Given the description of an element on the screen output the (x, y) to click on. 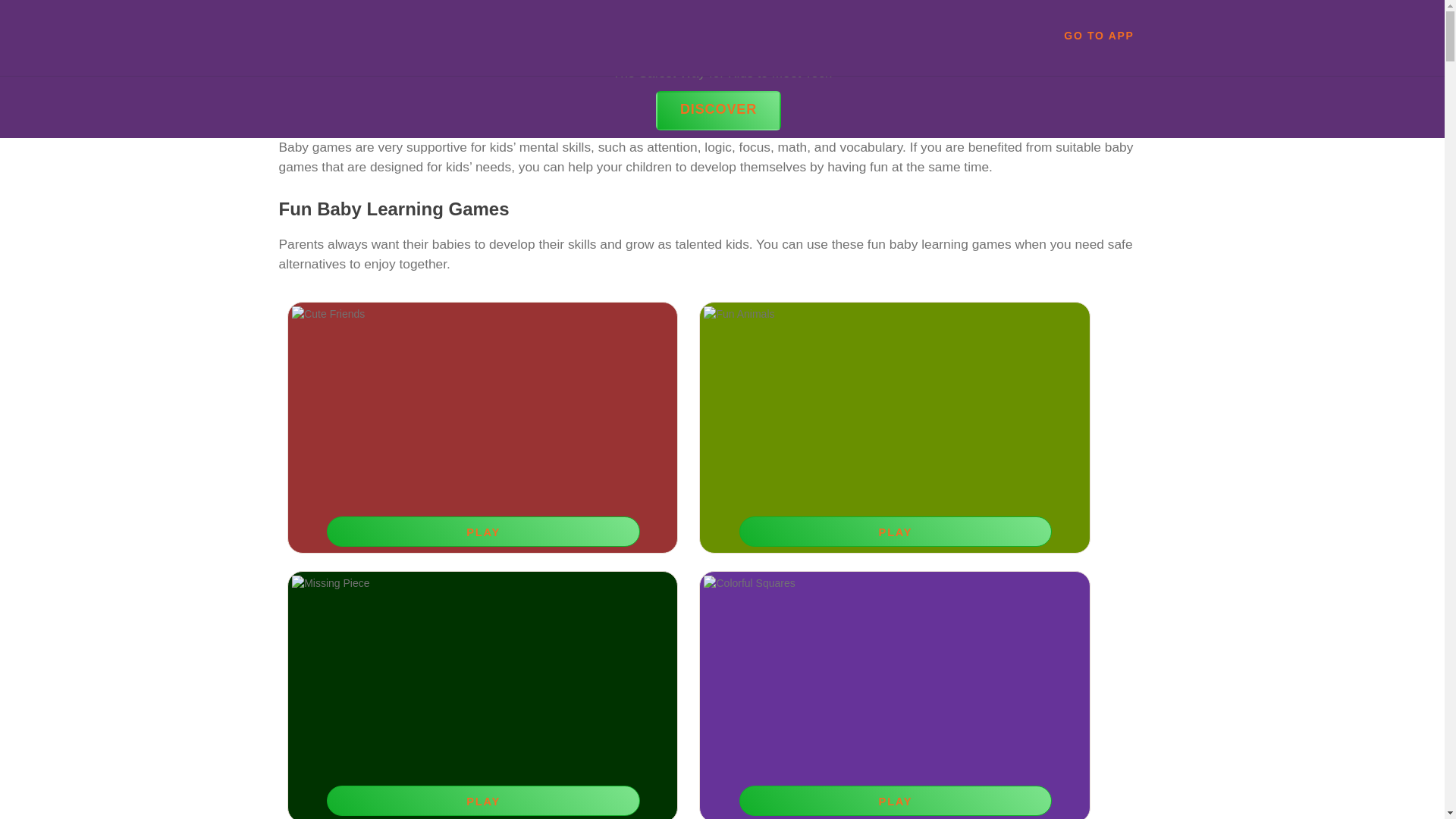
PLAY (895, 531)
PLAY (482, 800)
DISCOVER (718, 110)
PLAY (482, 531)
GO TO APP (1098, 35)
GO TO APP (1098, 35)
PLAY (895, 800)
